Given the description of an element on the screen output the (x, y) to click on. 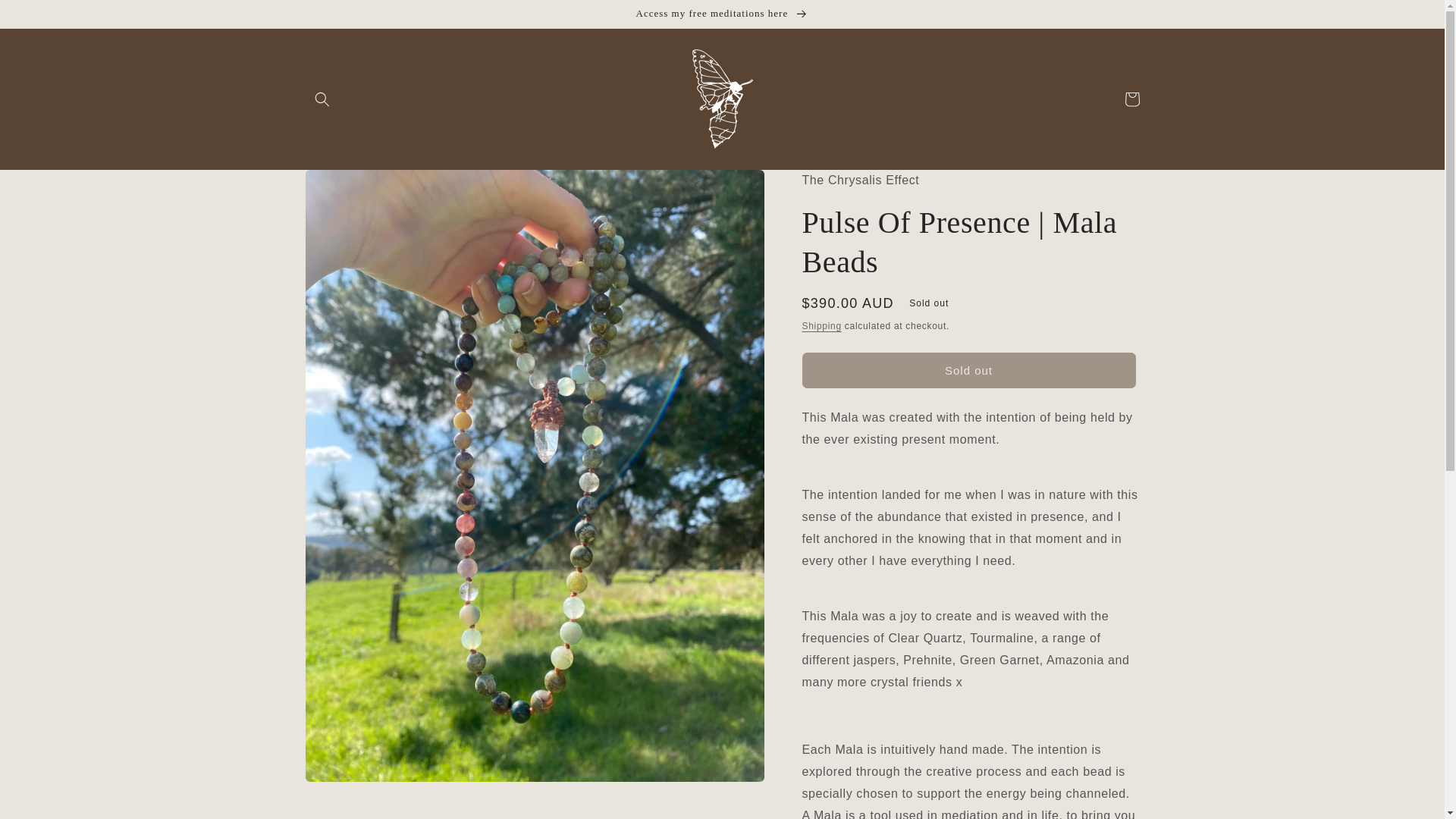
Skip to product information (350, 186)
Shipping (821, 326)
Sold out (968, 370)
Cart (1131, 99)
Skip to content (45, 17)
